Given the description of an element on the screen output the (x, y) to click on. 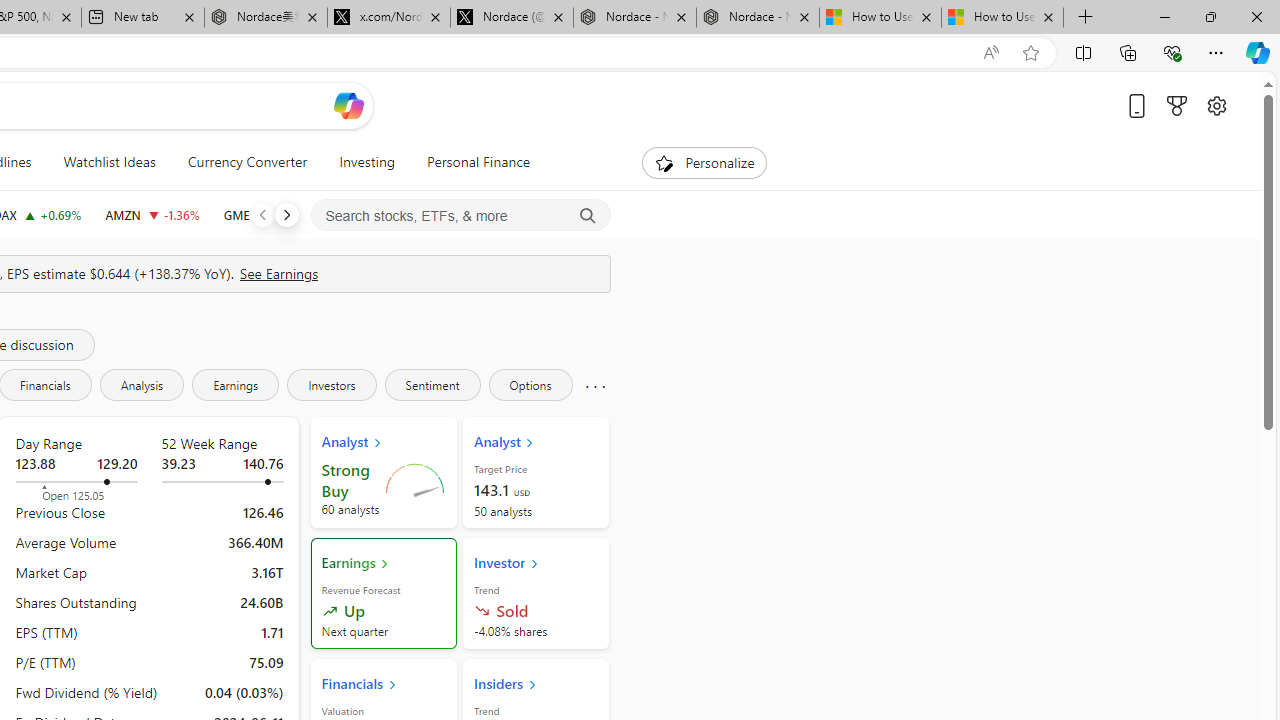
Currency Converter (247, 162)
Personal Finance (478, 162)
How to Use a Monitor With Your Closed Laptop (1002, 17)
Personal Finance (469, 162)
Analysis (141, 384)
To get missing image descriptions, open the context menu. (664, 162)
Class: card_head_icon_lightMode-DS-EntryPoint1-1 (531, 684)
Sentiment (432, 384)
GME GAMESTOP CORP. decrease 20.74 -0.62 -2.90% (266, 214)
Open settings (1216, 105)
